Given the description of an element on the screen output the (x, y) to click on. 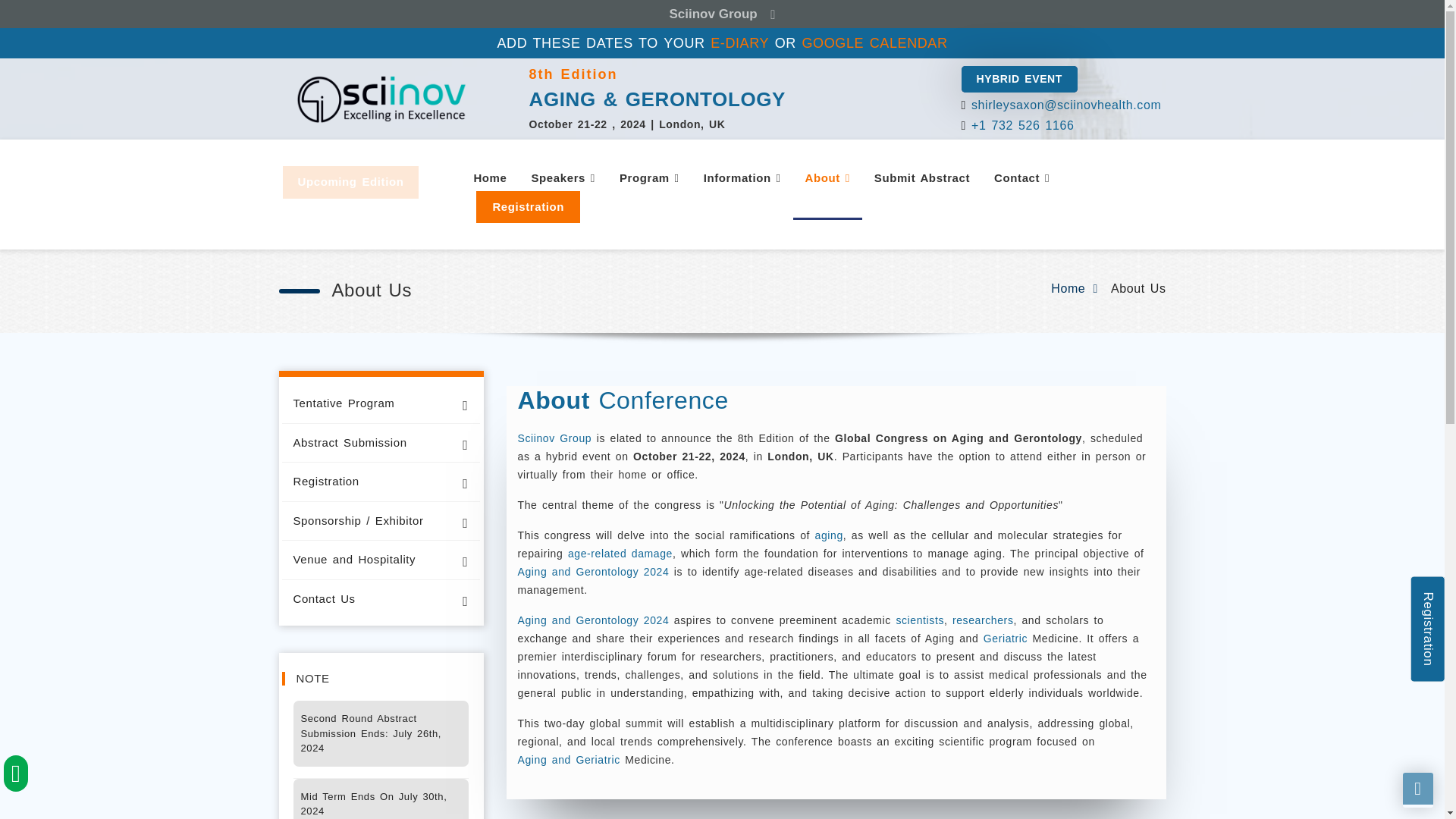
Speakers (562, 178)
GOOGLE CALENDAR (874, 43)
E-DIARY (739, 43)
logo (722, 99)
Contact (1021, 178)
Sciinov Group (721, 13)
About (827, 178)
Program (649, 178)
Submit Abstract (921, 178)
HYBRID EVENT (1018, 79)
Upcoming Edition (349, 181)
logo (381, 99)
Information (742, 178)
Home (489, 178)
